Given the description of an element on the screen output the (x, y) to click on. 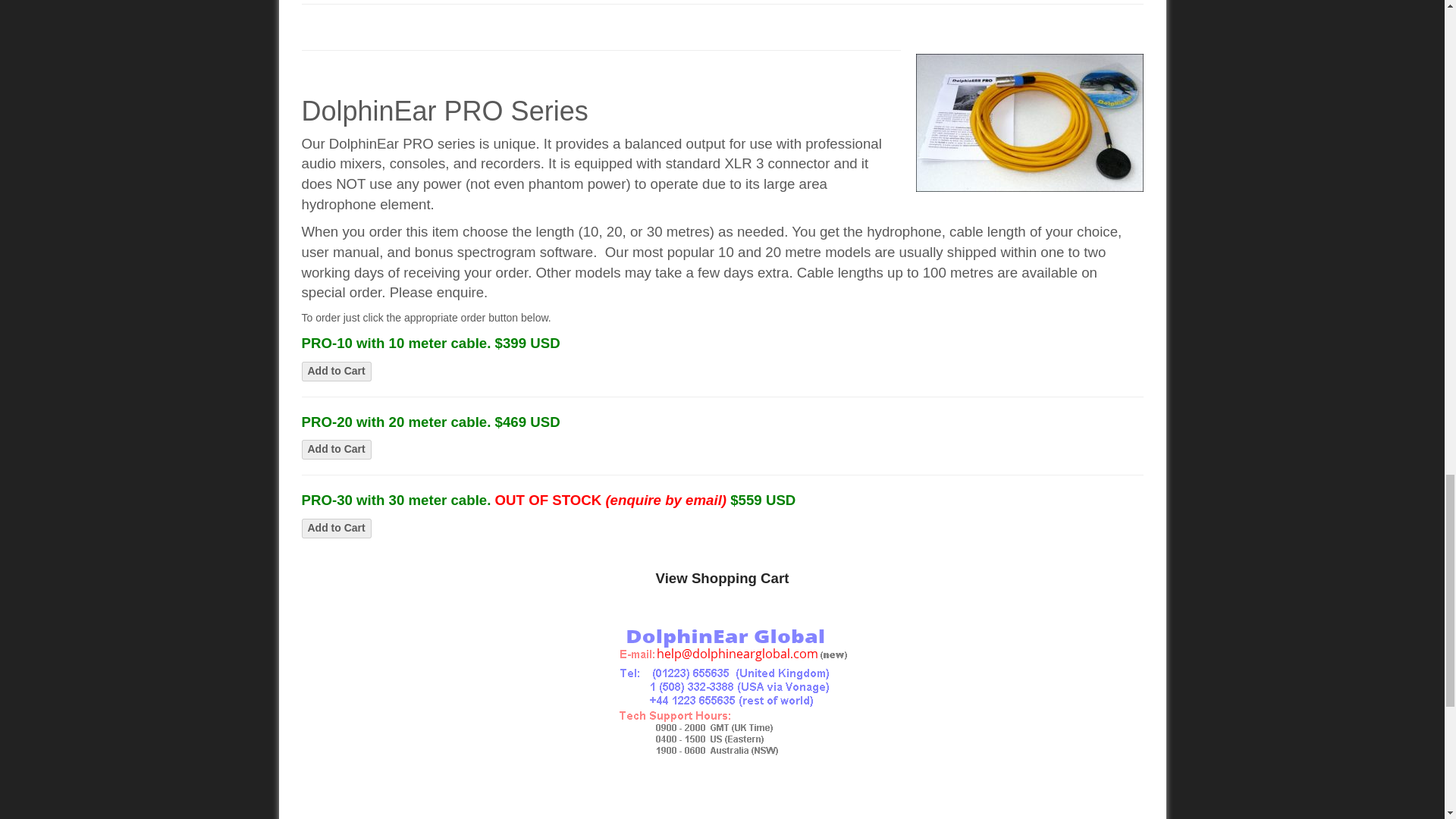
Add to Cart (336, 449)
Add to Cart (336, 528)
Add to Cart (336, 371)
